Given the description of an element on the screen output the (x, y) to click on. 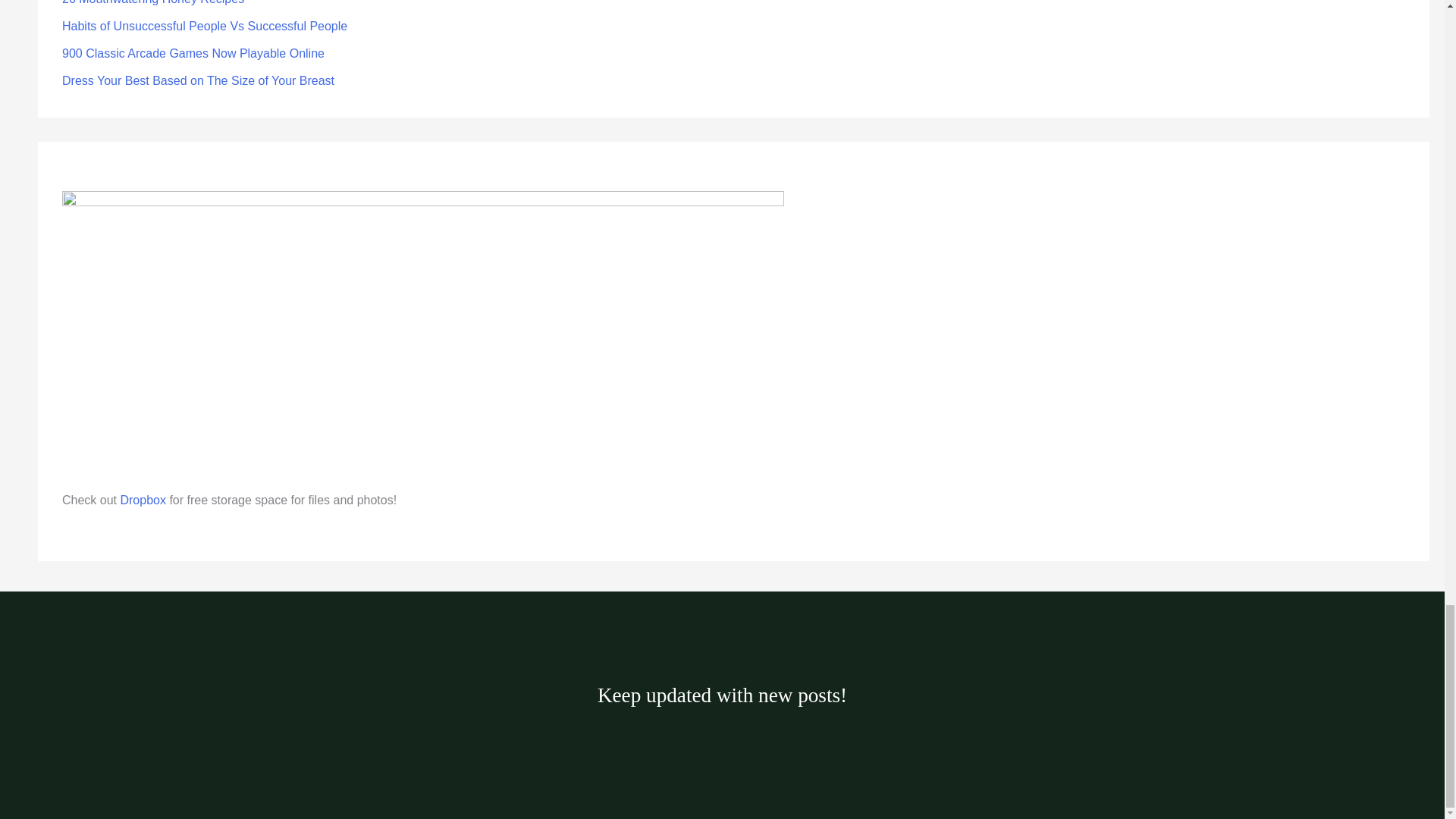
900 Classic Arcade Games Now Playable Online (193, 52)
Habits of Unsuccessful People Vs Successful People (204, 25)
Dropbox (142, 499)
26 Mouthwatering Honey Recipes (153, 2)
Dress Your Best Based on The Size of Your Breast (198, 80)
